Given the description of an element on the screen output the (x, y) to click on. 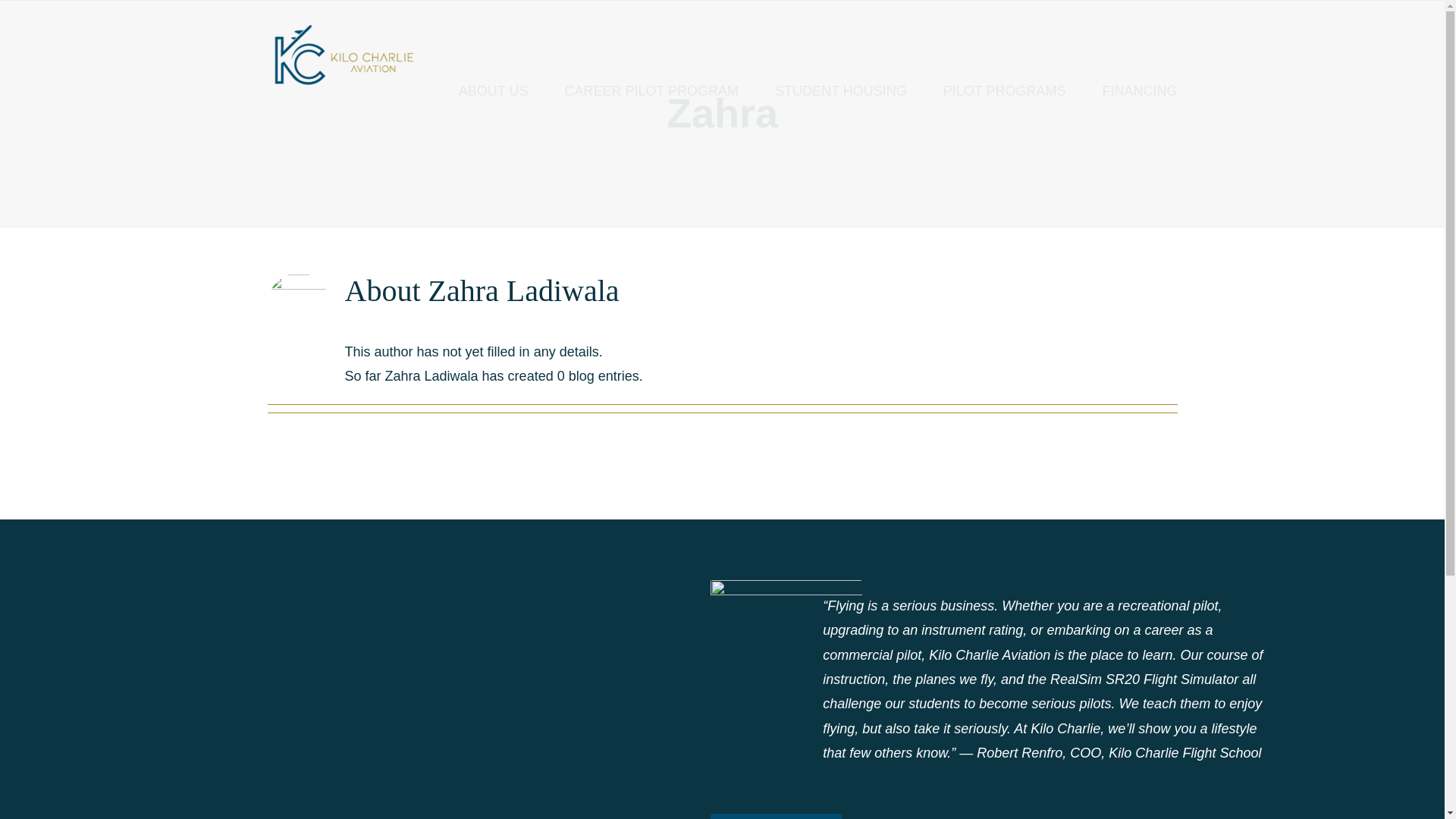
STUDENT HOUSING (840, 90)
CAREER PILOT PROGRAM (651, 90)
PILOT PROGRAMS (1004, 90)
